Given the description of an element on the screen output the (x, y) to click on. 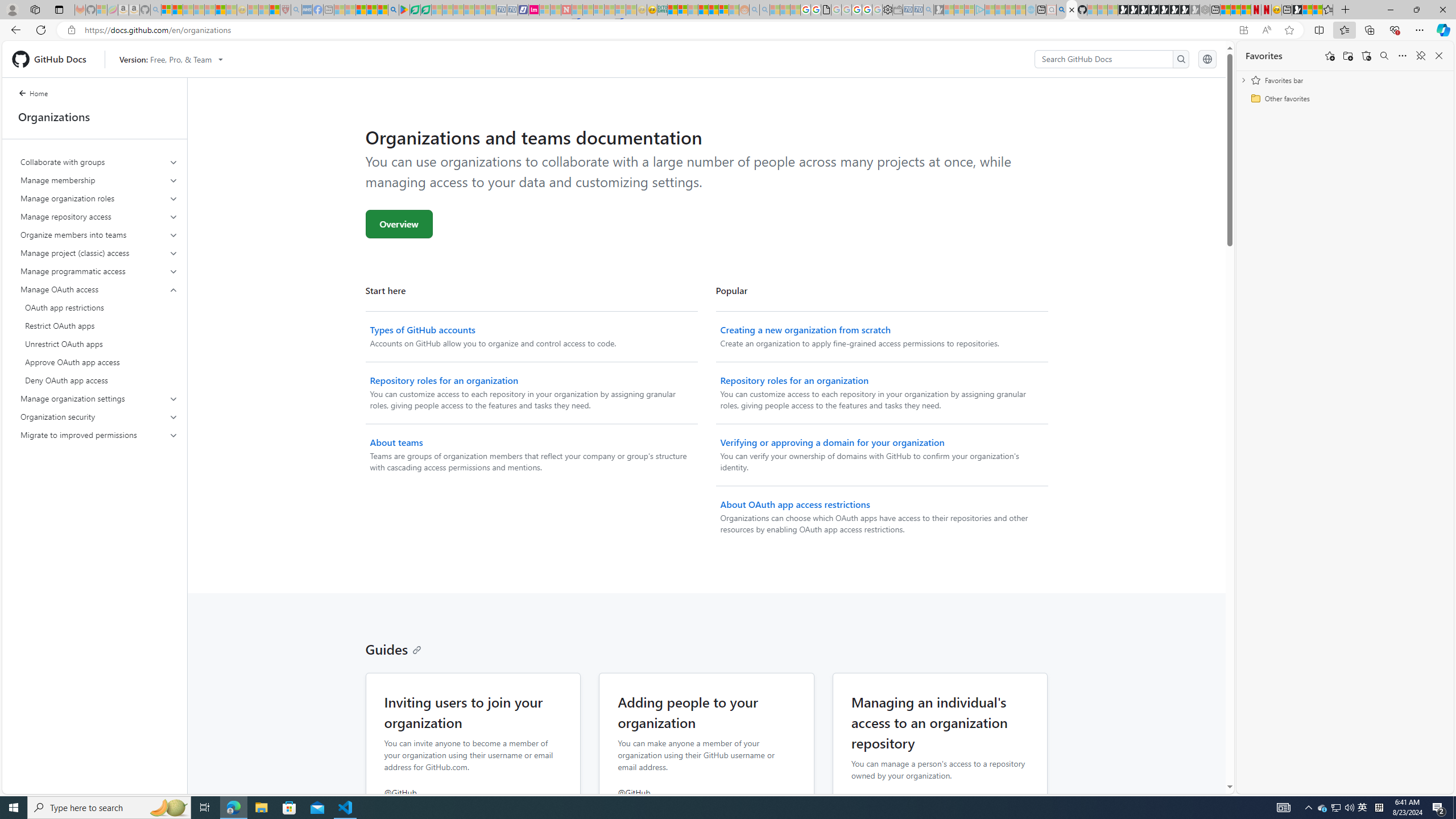
Manage membership (99, 180)
Unrestrict OAuth apps (99, 343)
